Given the description of an element on the screen output the (x, y) to click on. 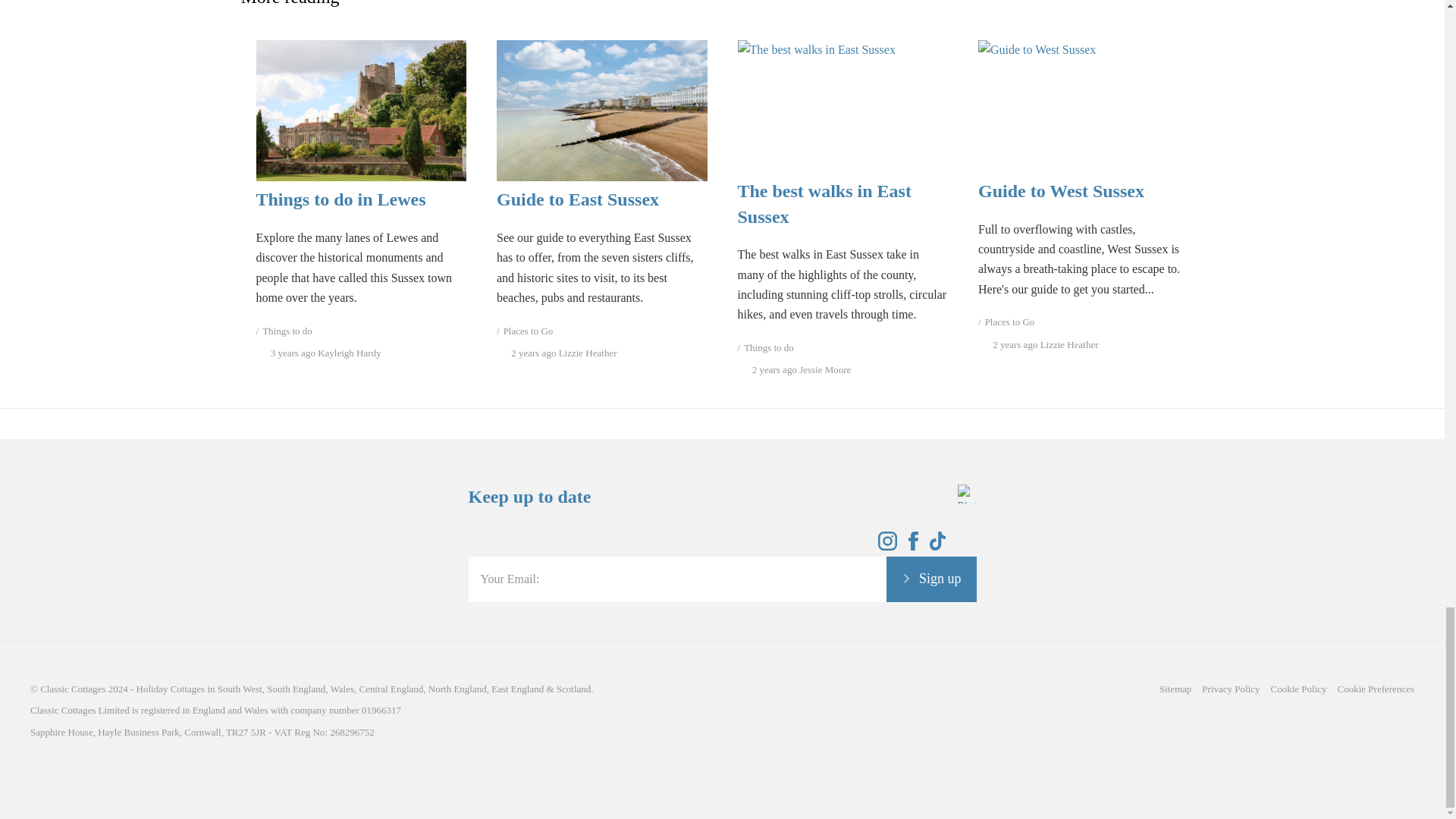
Follow Classic Cottages Tik Tok (938, 545)
Follow Classic Cottages Pinterest (965, 545)
Follow Classic Cottages Instagram (886, 545)
